Given the description of an element on the screen output the (x, y) to click on. 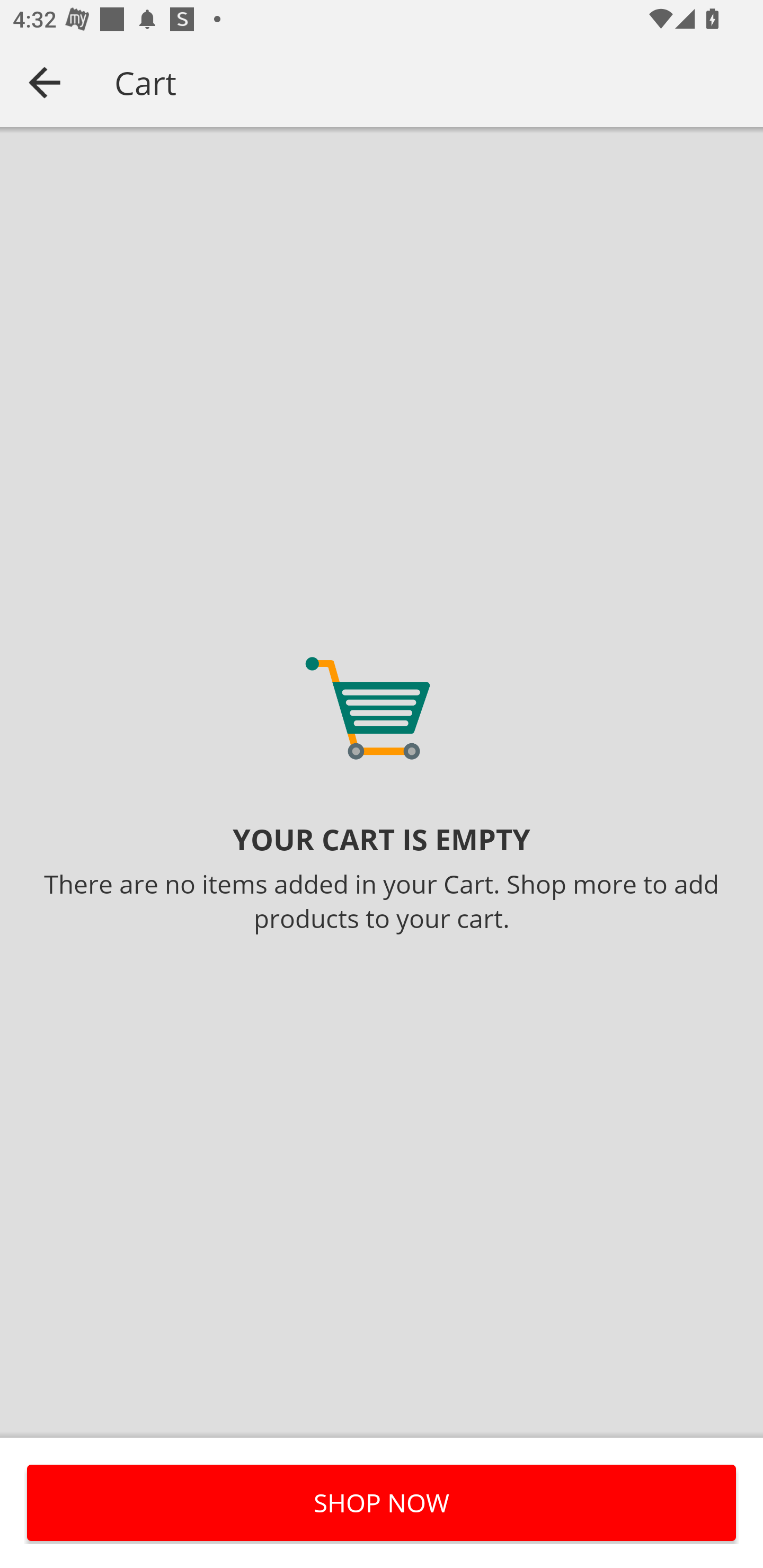
Navigate up (44, 82)
SHOP NOW (381, 1502)
